Given the description of an element on the screen output the (x, y) to click on. 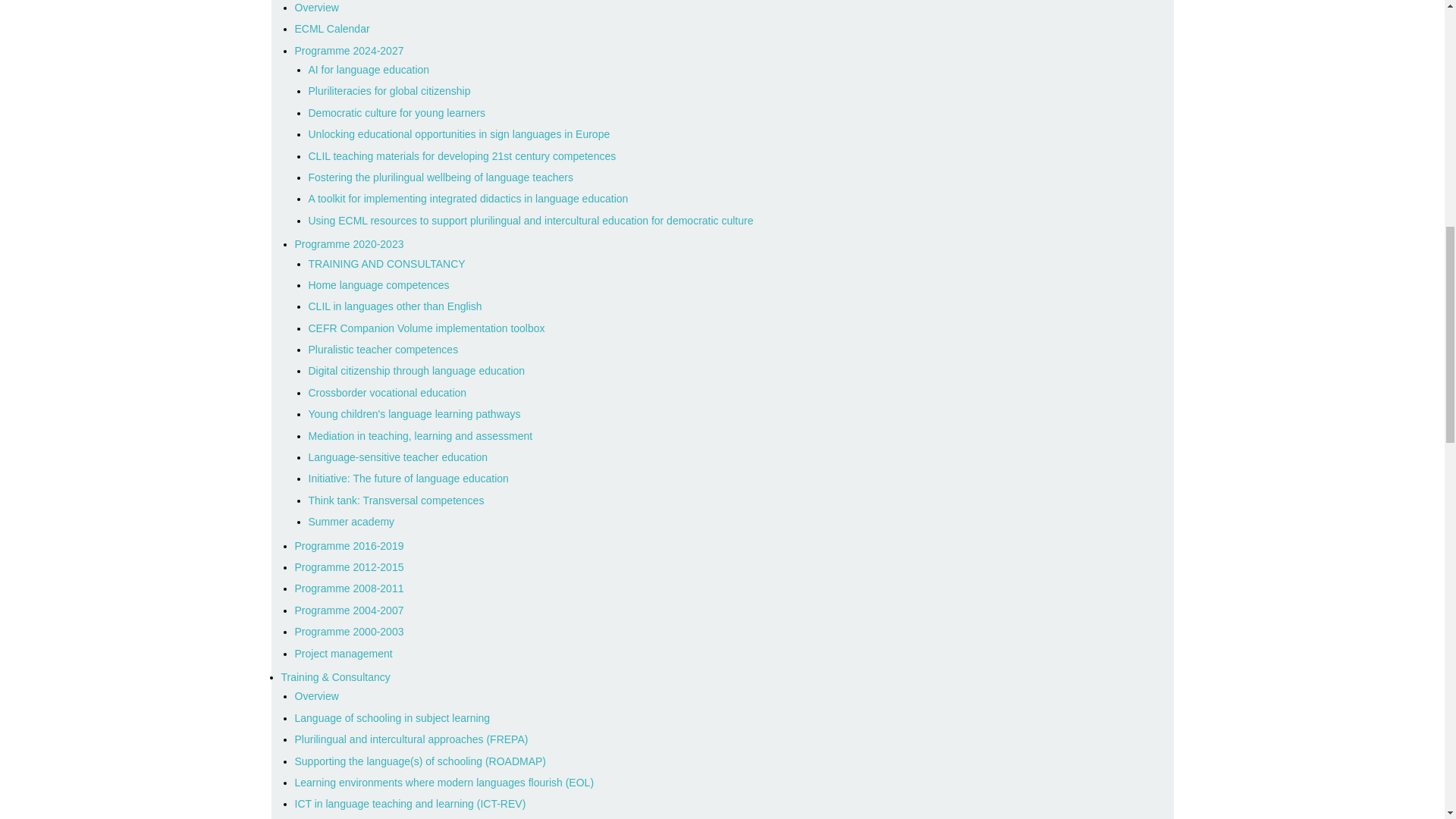
Overview (315, 7)
